Given the description of an element on the screen output the (x, y) to click on. 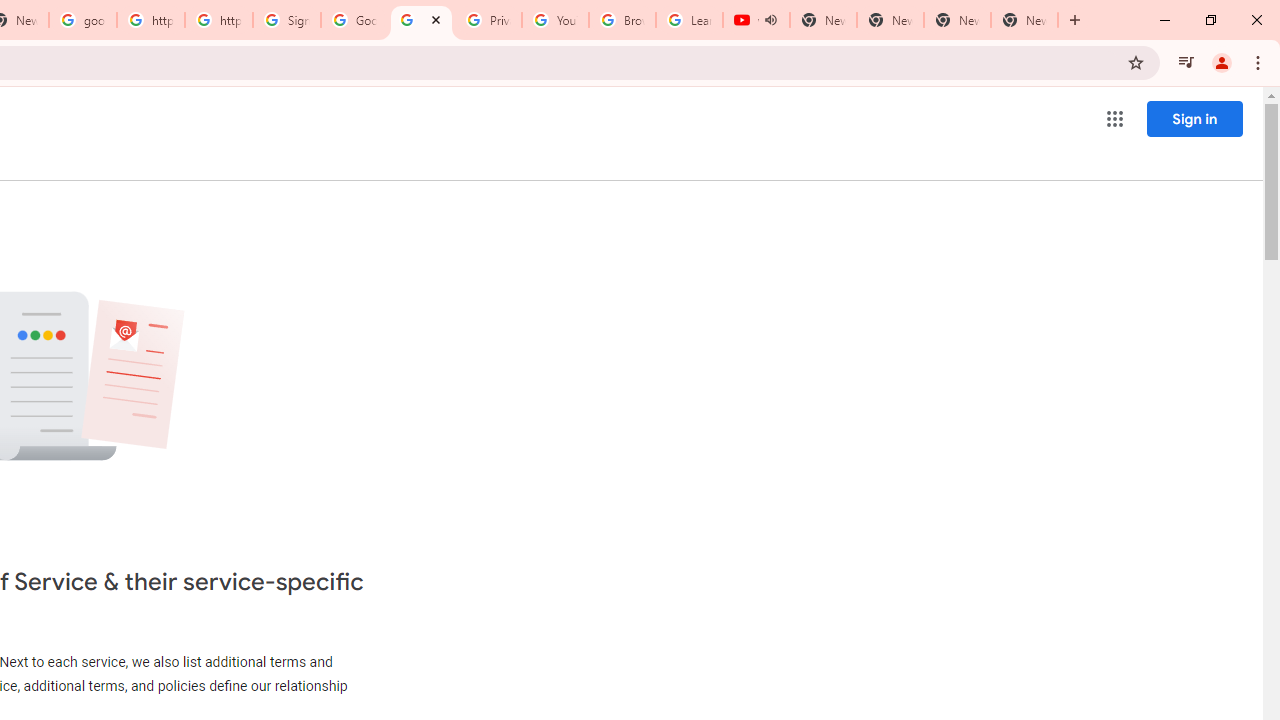
YouTube (555, 20)
Sign in - Google Accounts (287, 20)
https://scholar.google.com/ (150, 20)
New Tab (1024, 20)
